Given the description of an element on the screen output the (x, y) to click on. 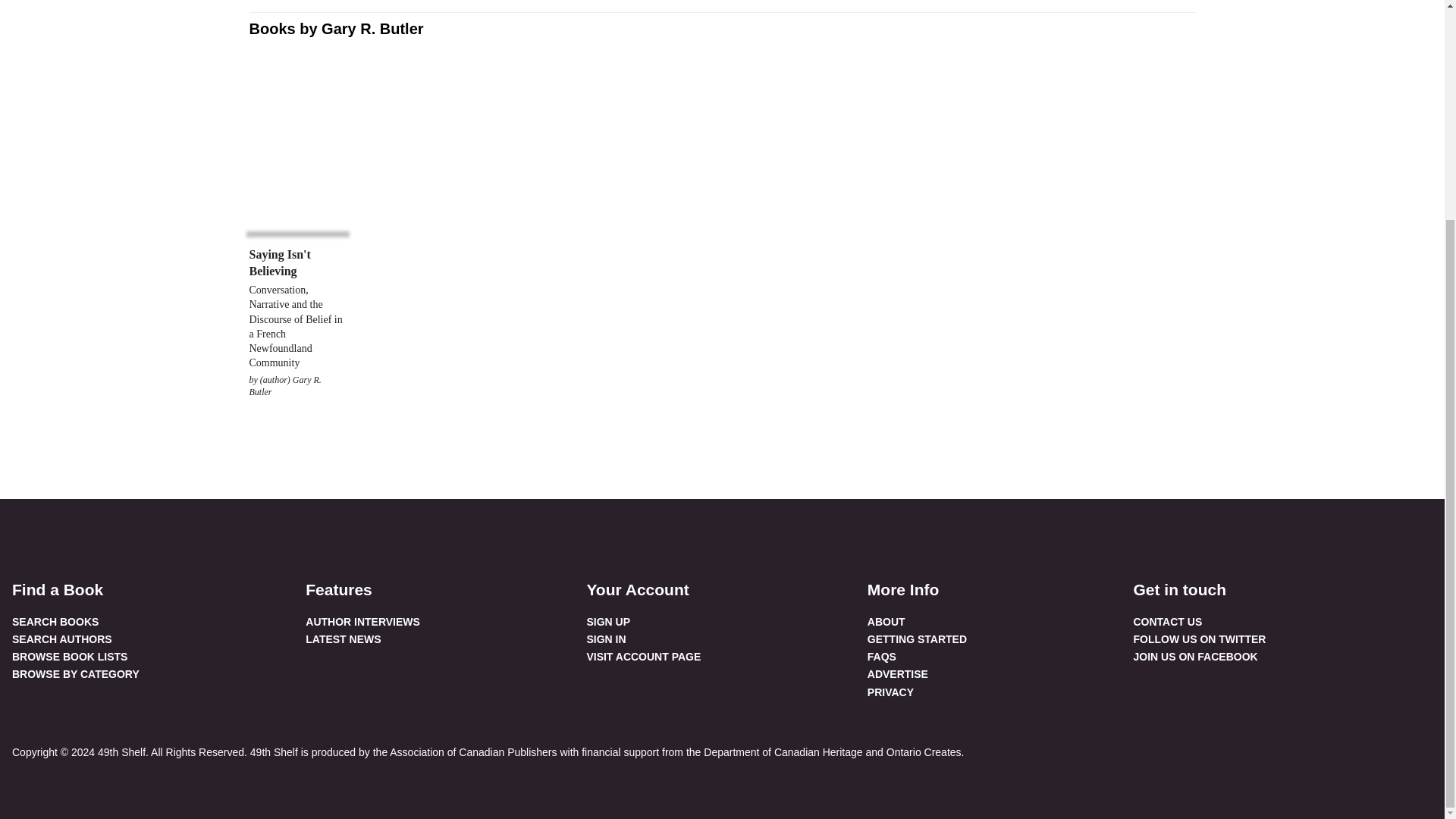
SEARCH AUTHORS (61, 639)
FAQS (881, 656)
VISIT ACCOUNT PAGE (643, 656)
Visit us on Instagram (90, 535)
BROWSE BOOK LISTS (69, 656)
CONTACT US (1167, 621)
SIGN IN (606, 639)
Visit us on Twitter (57, 535)
JOIN US ON FACEBOOK (1194, 656)
FACEBOOK (23, 535)
